Given the description of an element on the screen output the (x, y) to click on. 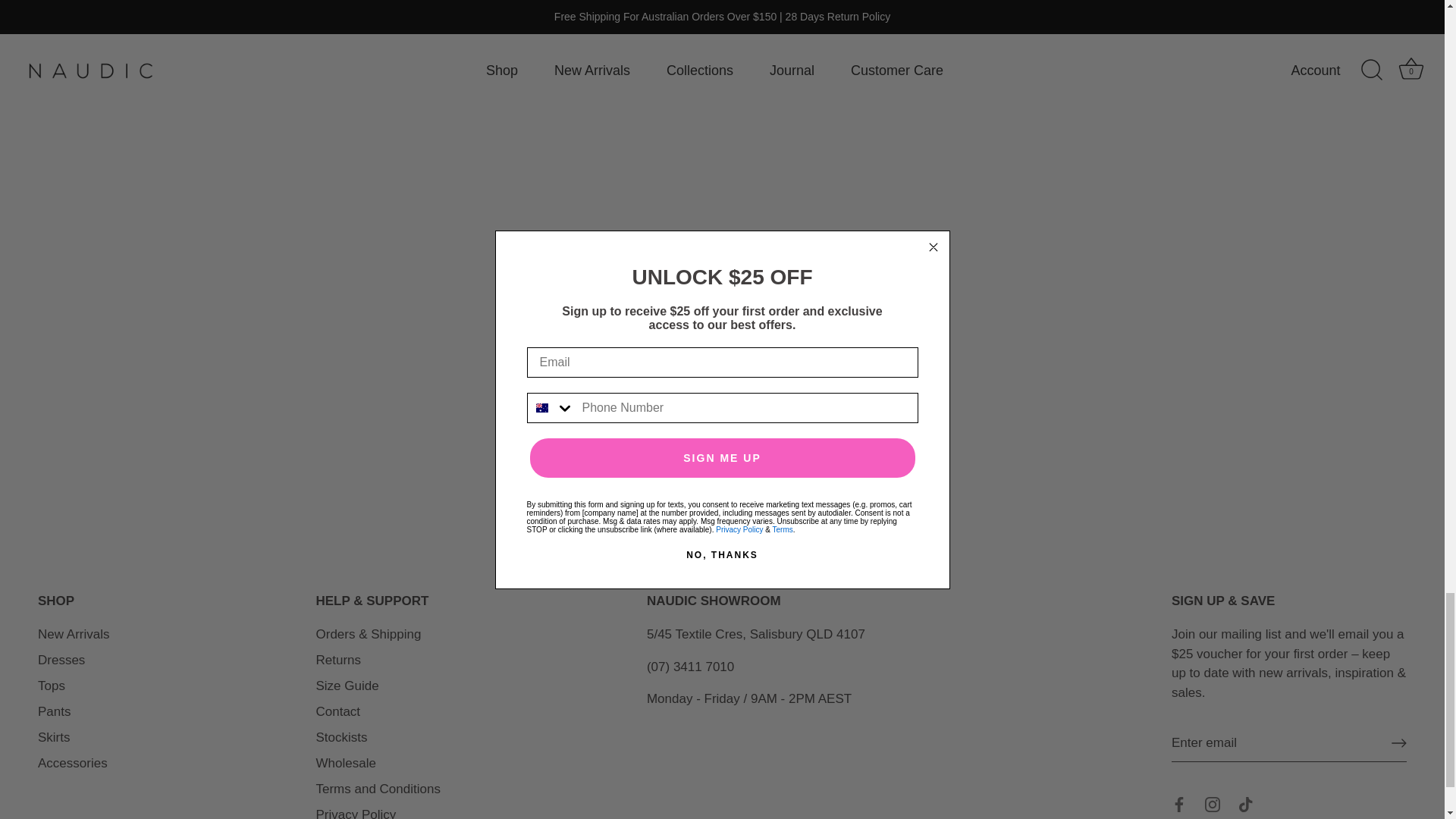
Instagram (1212, 761)
RIGHT ARROW LONG (1398, 700)
